Given the description of an element on the screen output the (x, y) to click on. 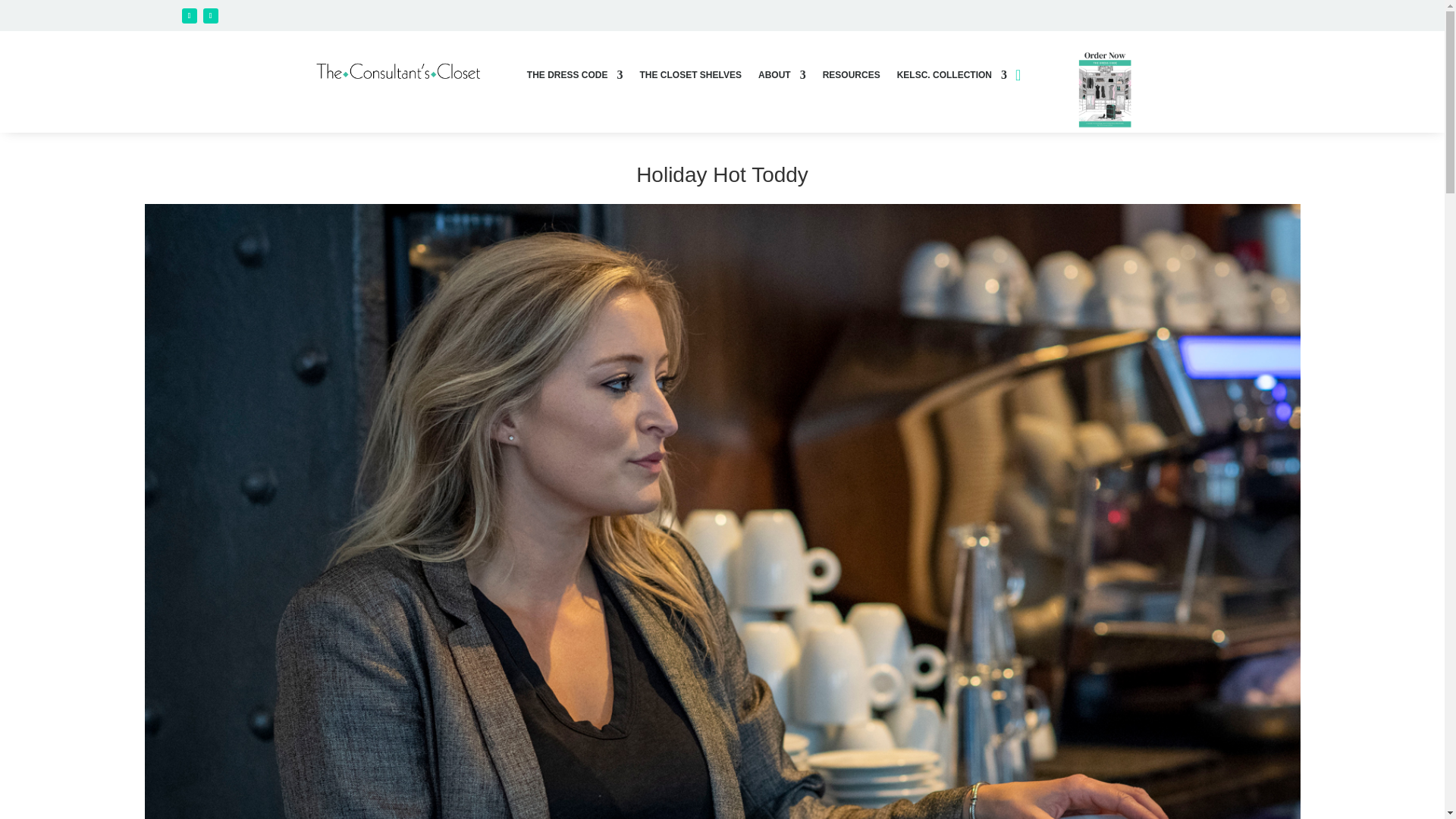
KELSC. COLLECTION (951, 77)
ABOUT (782, 77)
Follow on Instagram (189, 15)
Follow on LinkedIn (210, 15)
RESOURCES (851, 77)
THE DRESS CODE (575, 77)
THE CLOSET SHELVES (690, 77)
